Given the description of an element on the screen output the (x, y) to click on. 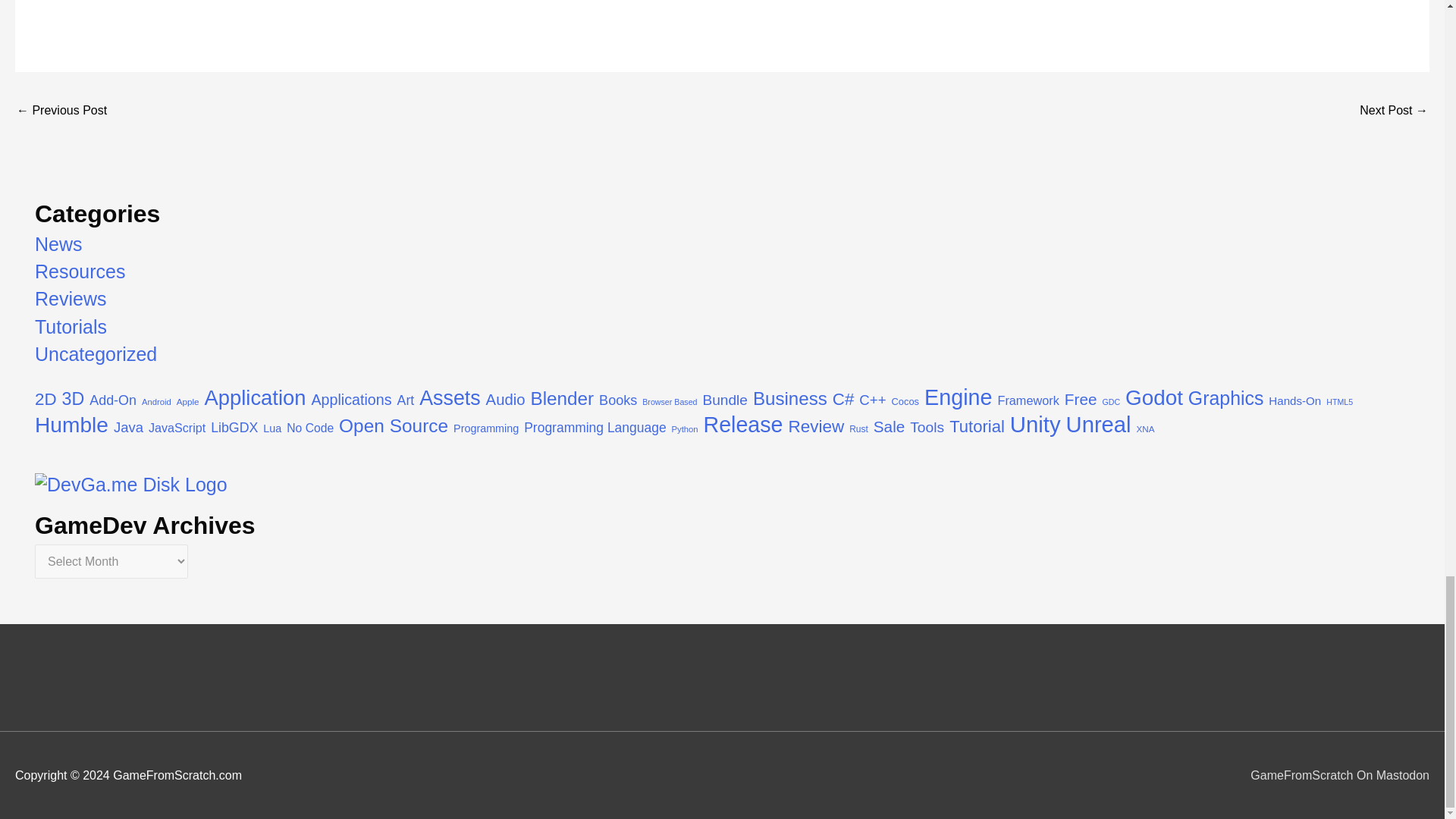
Unreal October 2023 Asset Giveaway (61, 111)
Reviews (70, 298)
Tutorials (70, 326)
News (58, 243)
Uncategorized (95, 353)
The Best Game Development Frameworks (1393, 111)
Resources (79, 271)
